Given the description of an element on the screen output the (x, y) to click on. 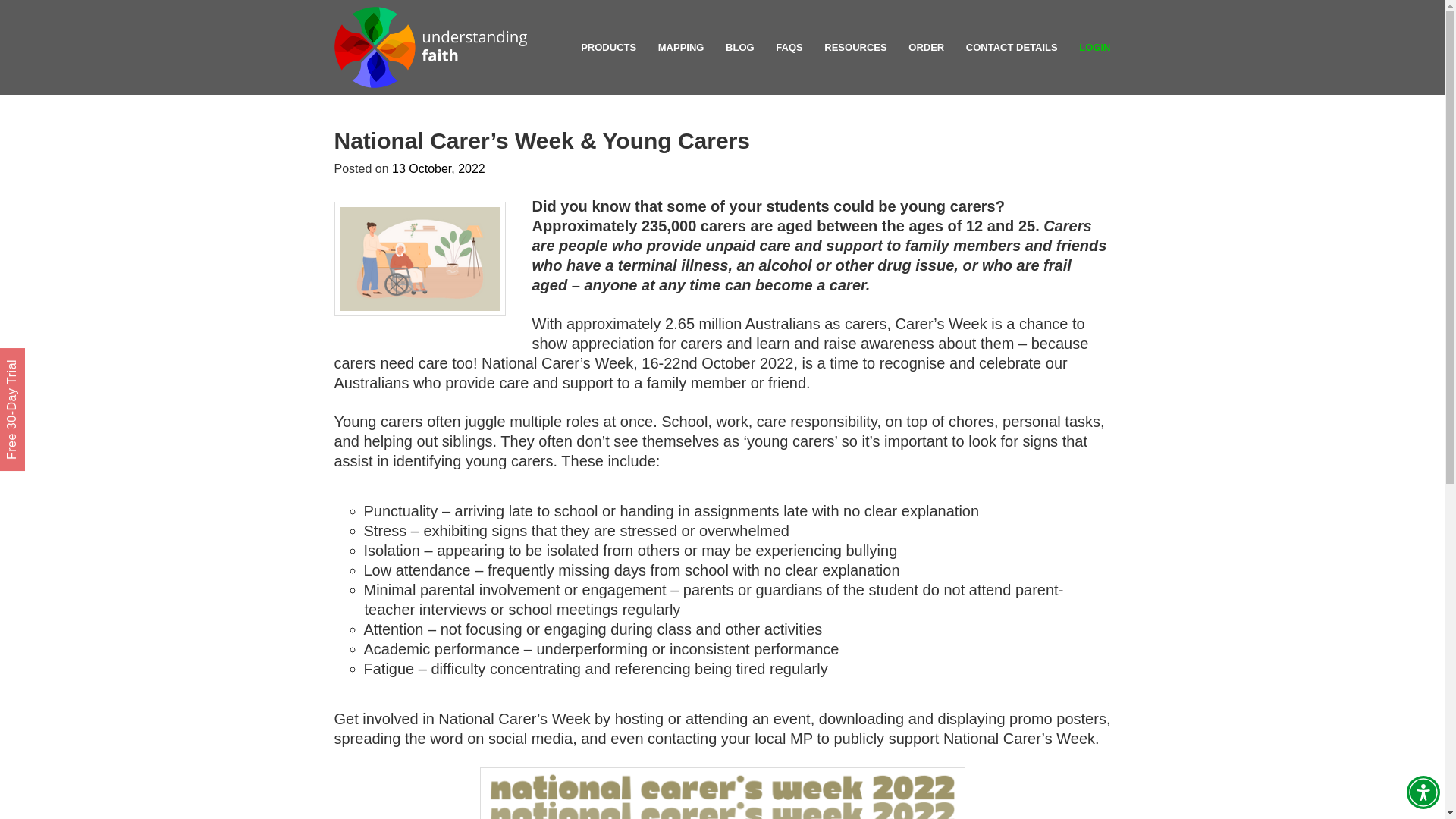
RESOURCES (855, 46)
MAPPING (681, 46)
CONTACT DETAILS (1012, 46)
BLOG (739, 46)
Free 30-Day Trial (61, 360)
ORDER (925, 46)
PRODUCTS (608, 46)
FAQS (789, 46)
Accessibility Menu (1422, 792)
LOGIN (1093, 46)
13 October, 2022 (437, 168)
